Given the description of an element on the screen output the (x, y) to click on. 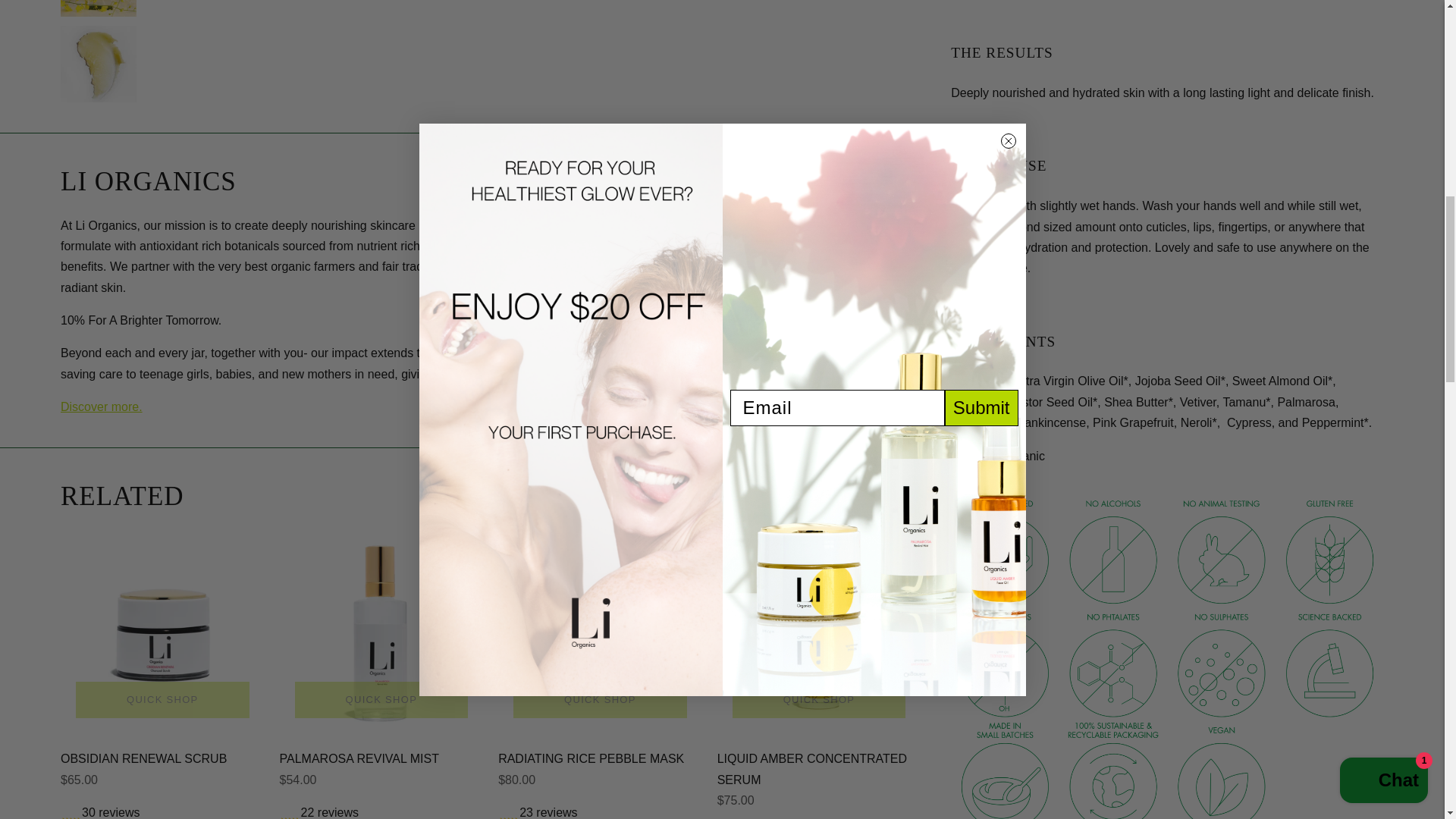
About Li Organics (101, 406)
